Given the description of an element on the screen output the (x, y) to click on. 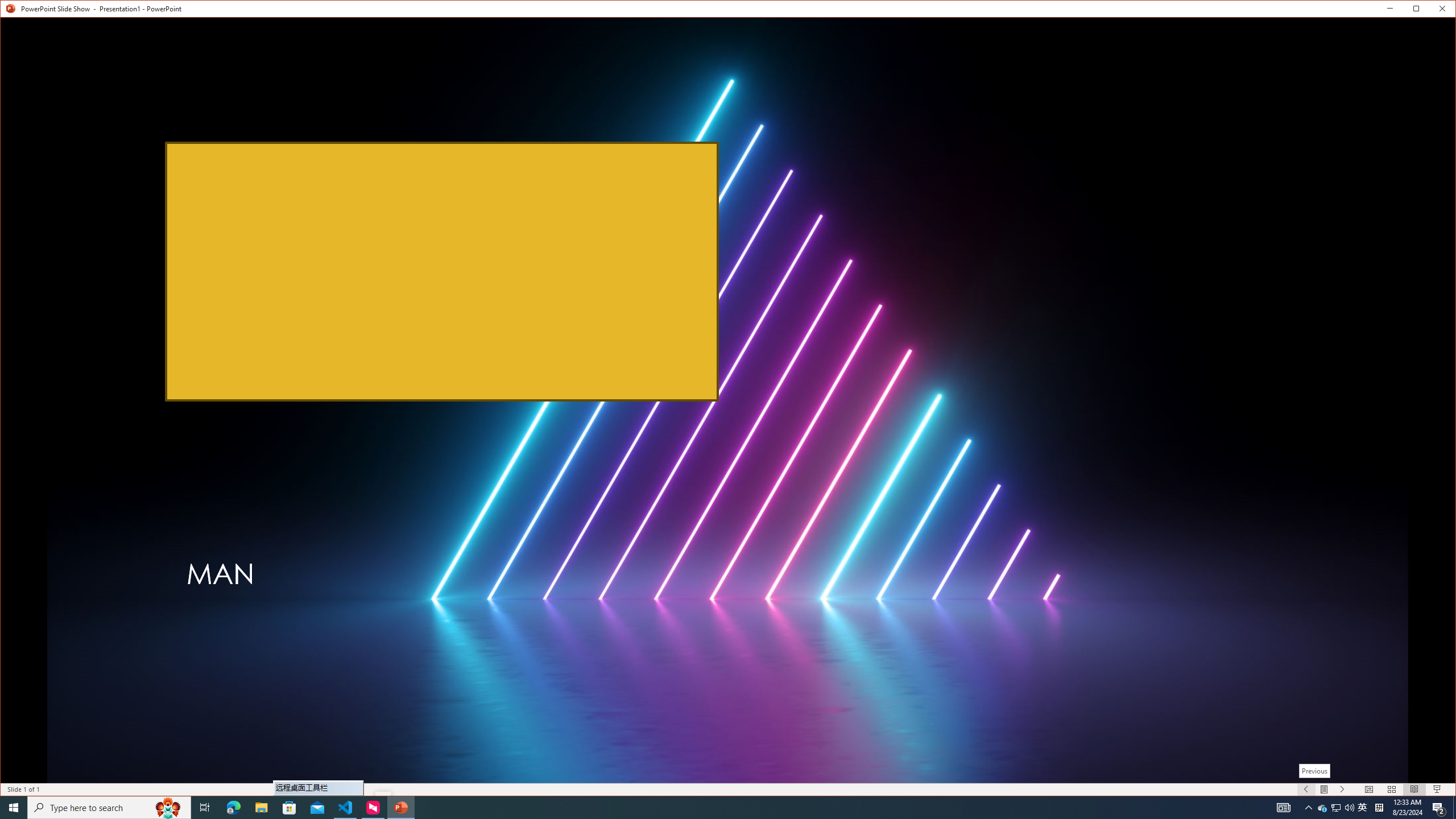
Slide Show Previous On (1306, 789)
